Given the description of an element on the screen output the (x, y) to click on. 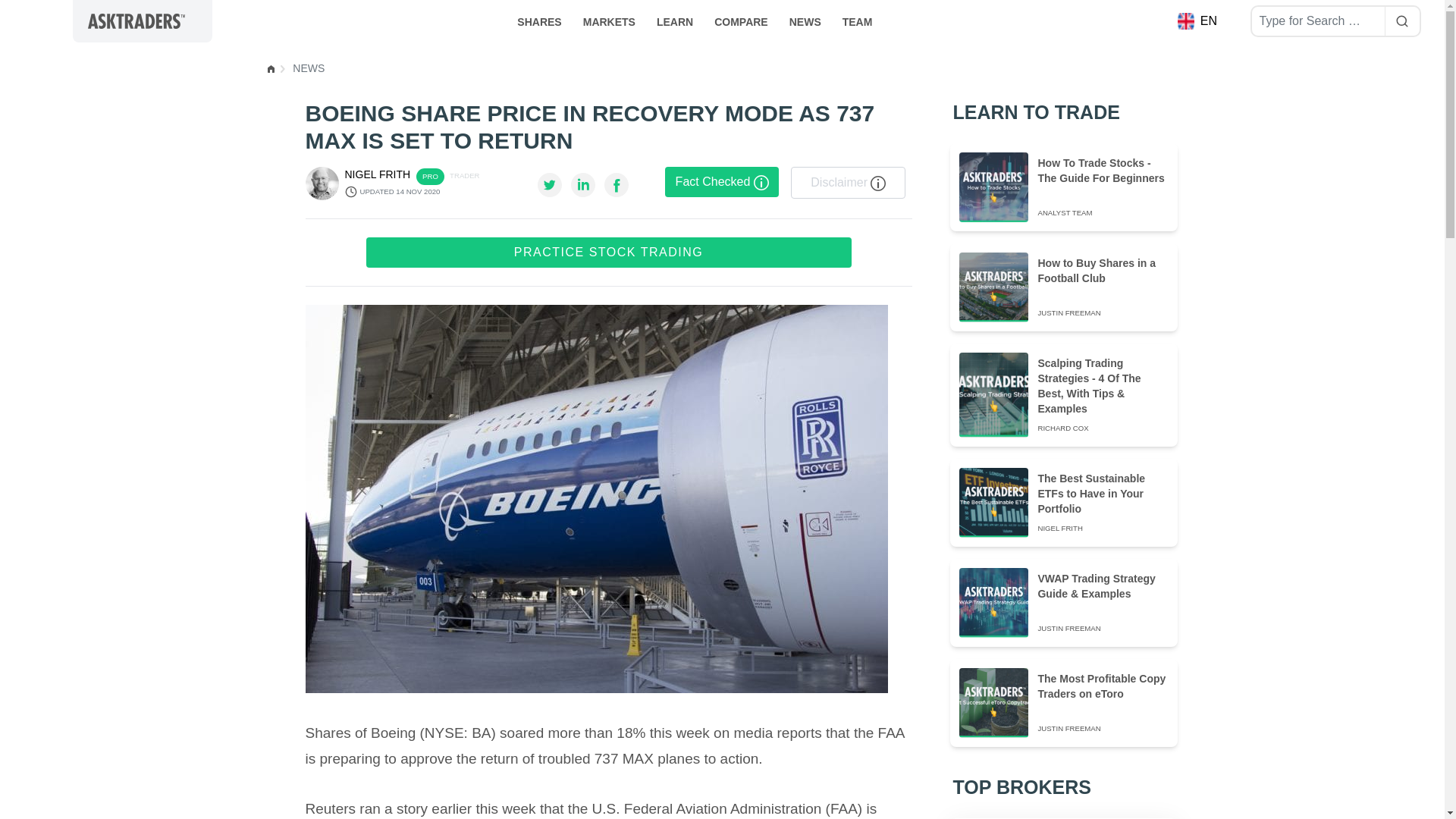
SHARES (539, 20)
EN (1198, 21)
MARKETS (609, 20)
LEARN (674, 20)
NEWS (804, 20)
COMPARE (740, 20)
